Given the description of an element on the screen output the (x, y) to click on. 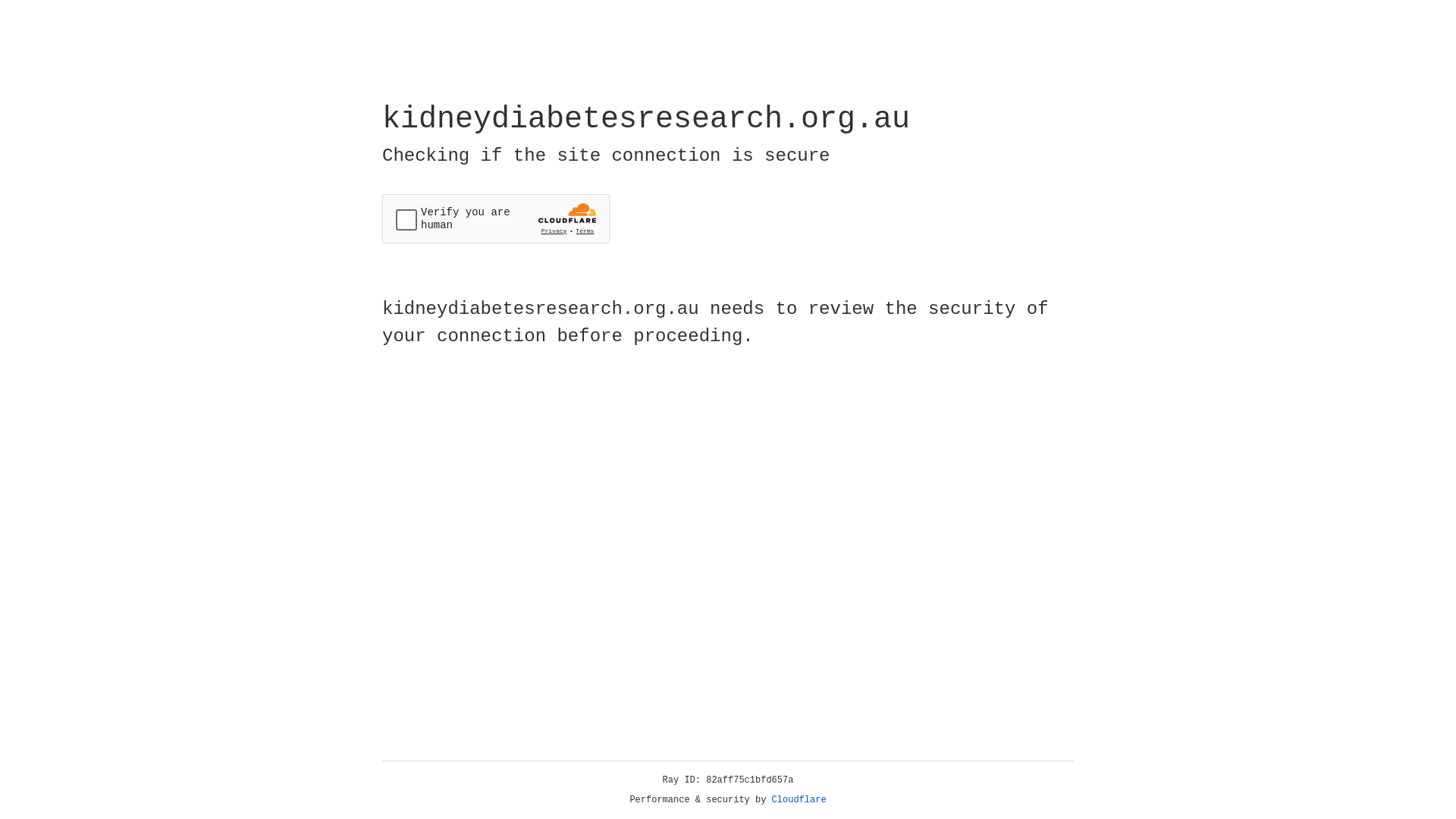
Widget containing a Cloudflare security challenge Element type: hover (495, 218)
Cloudflare Element type: text (798, 799)
